Given the description of an element on the screen output the (x, y) to click on. 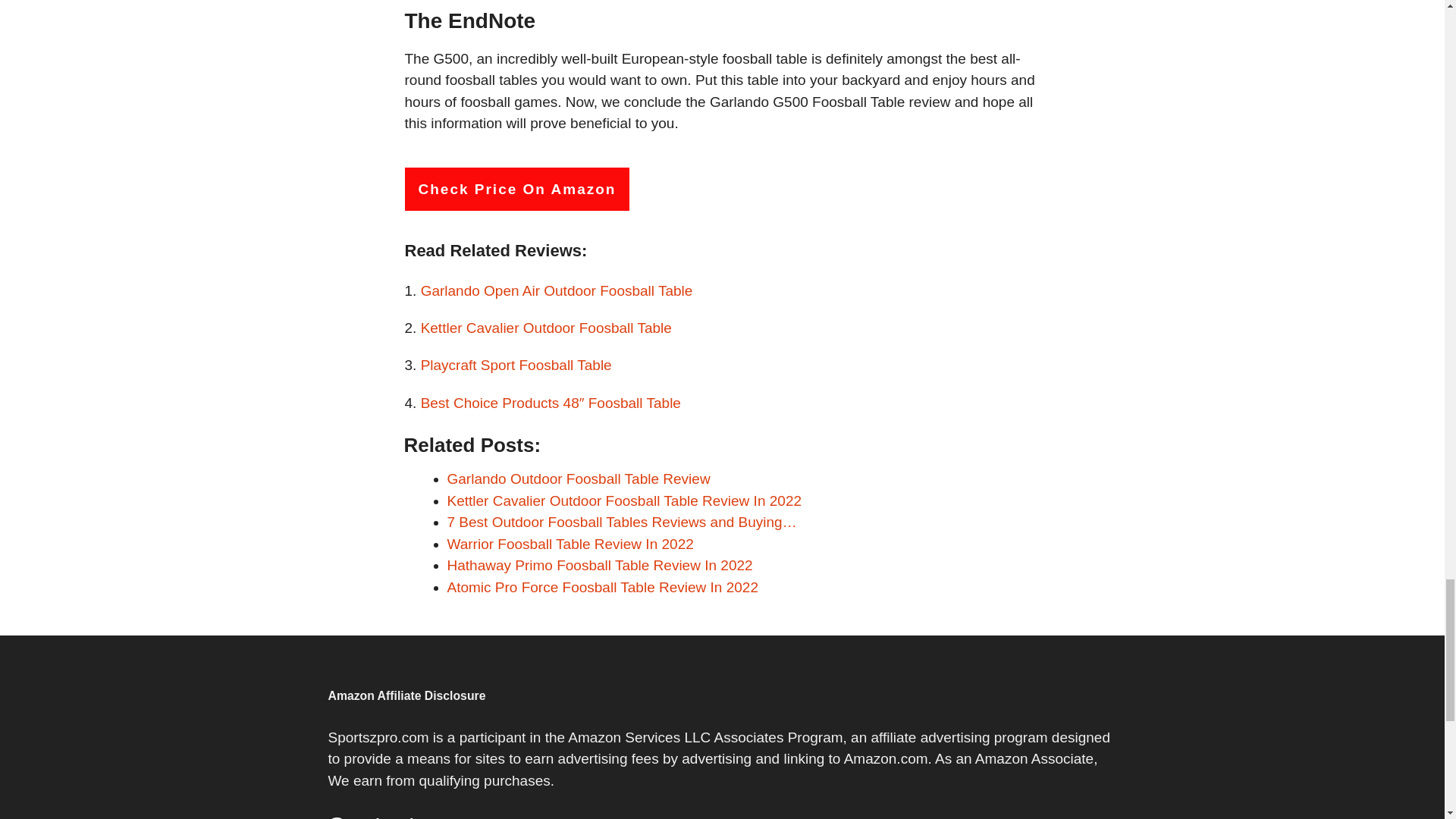
Garlando Open Air Outdoor Foosball Table (556, 290)
Kettler Cavalier Outdoor Foosball Table Review In 2022 (624, 500)
Check Price On Amazon (517, 188)
Playcraft Sport Foosball Table (515, 365)
Garlando Outdoor Foosball Table Review (578, 478)
Kettler Cavalier Outdoor Foosball Table (545, 327)
